Given the description of an element on the screen output the (x, y) to click on. 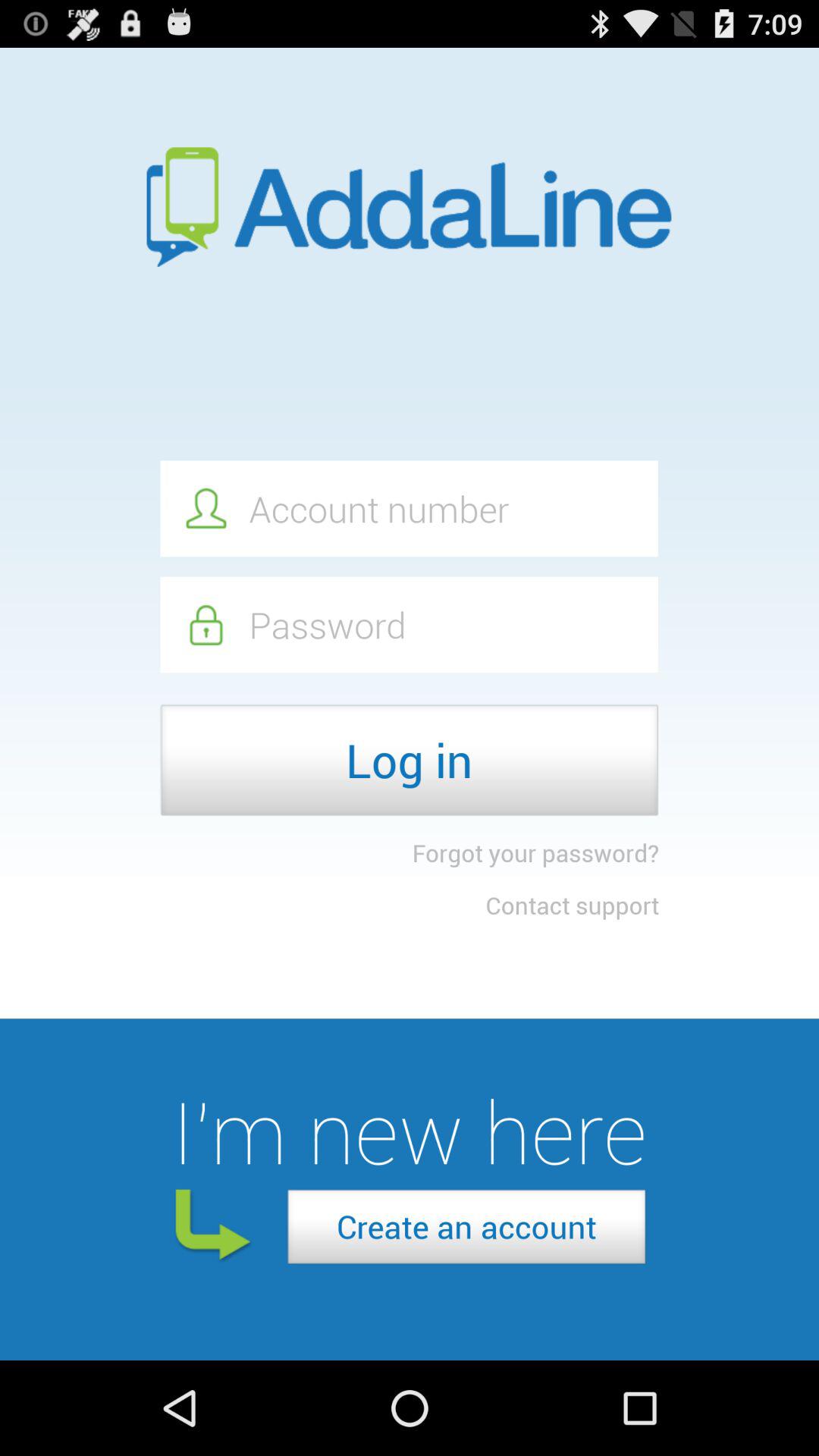
tap the forgot your password? icon (535, 852)
